Given the description of an element on the screen output the (x, y) to click on. 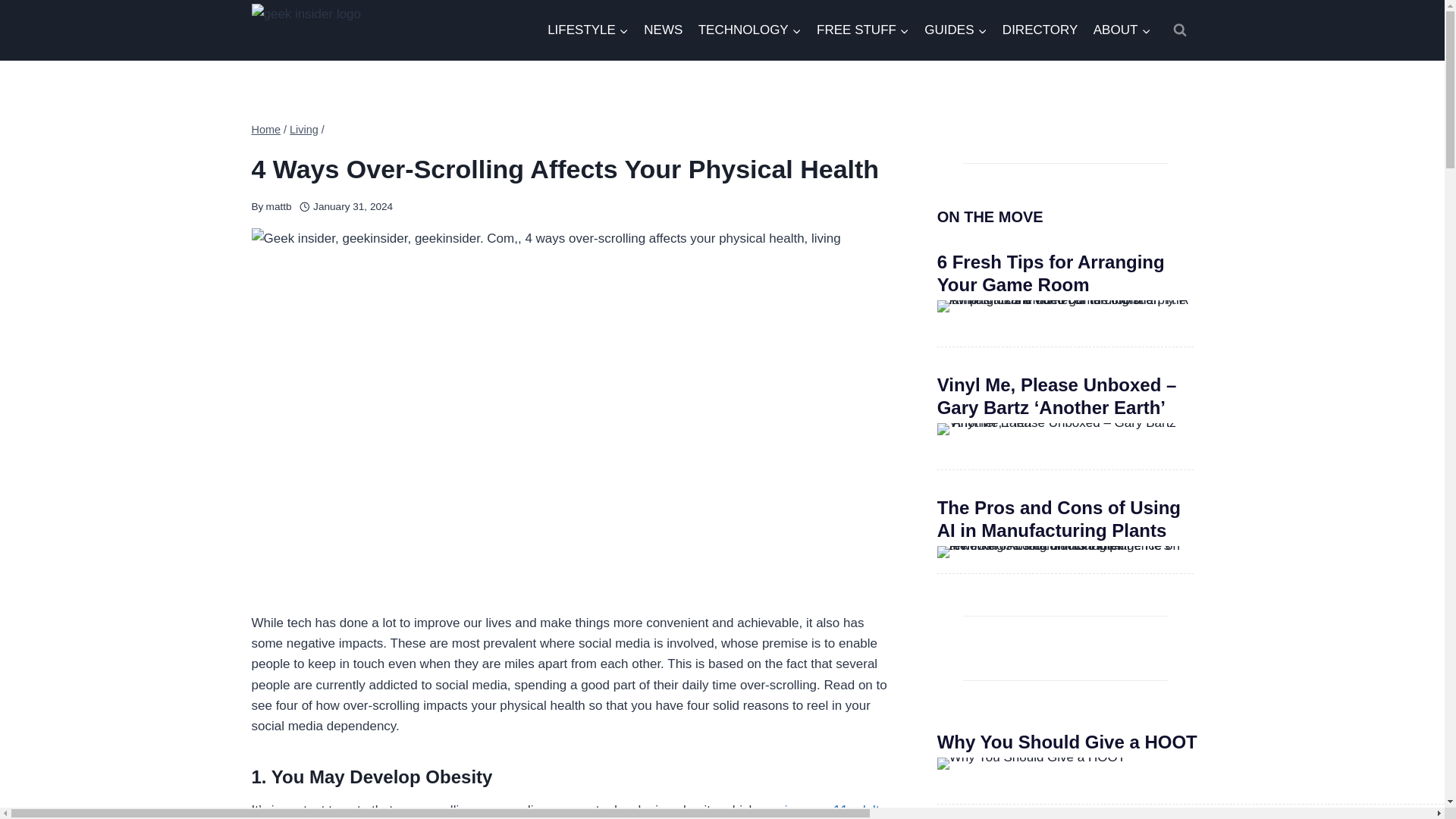
FREE STUFF (863, 30)
TECHNOLOGY (749, 30)
NEWS (663, 30)
LIFESTYLE (588, 30)
ABOUT (1122, 30)
GUIDES (955, 30)
DIRECTORY (1040, 30)
